Given the description of an element on the screen output the (x, y) to click on. 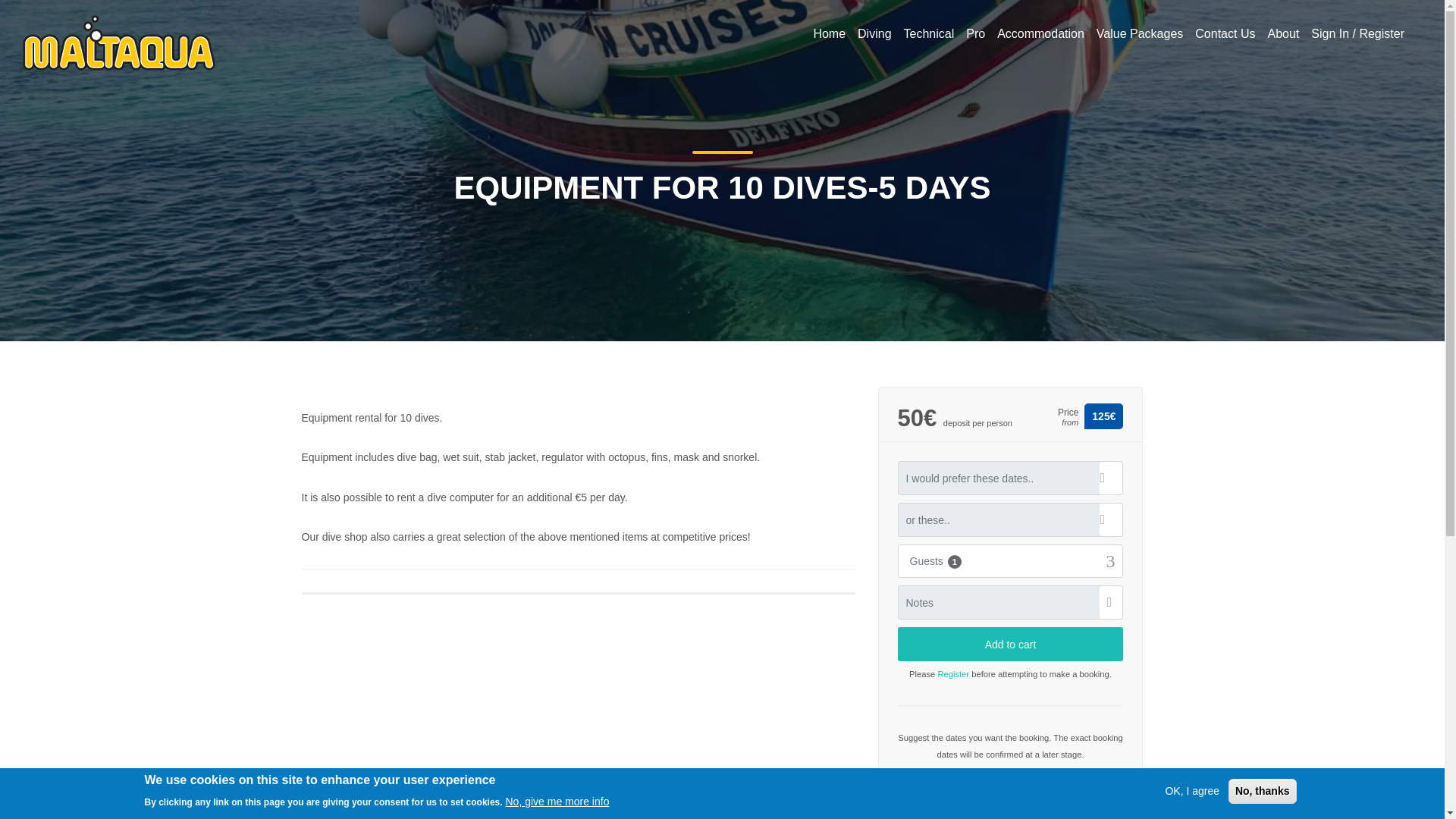
Add to cart (1011, 643)
